Given the description of an element on the screen output the (x, y) to click on. 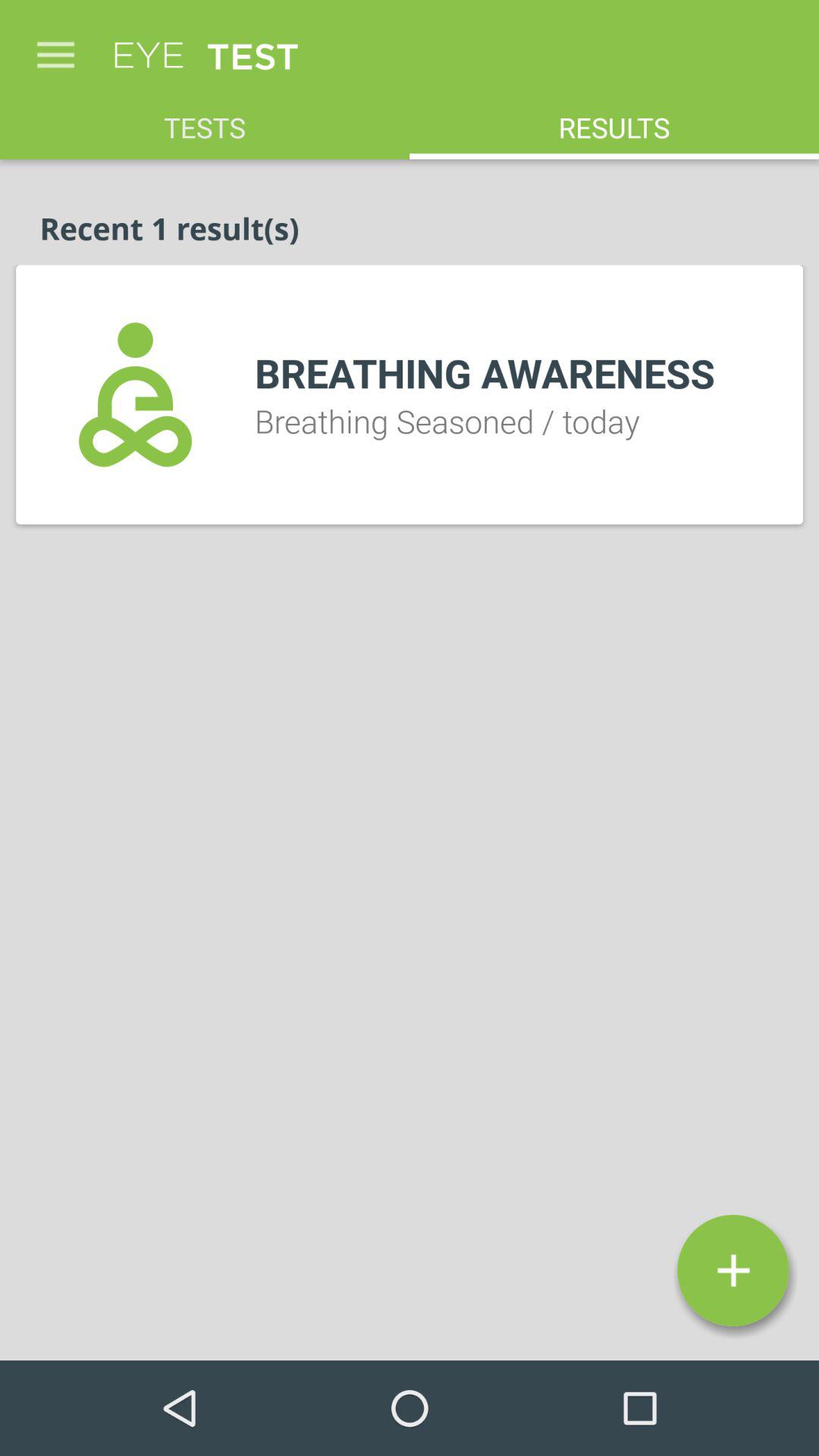
turn off item above the recent 1 result (204, 119)
